Given the description of an element on the screen output the (x, y) to click on. 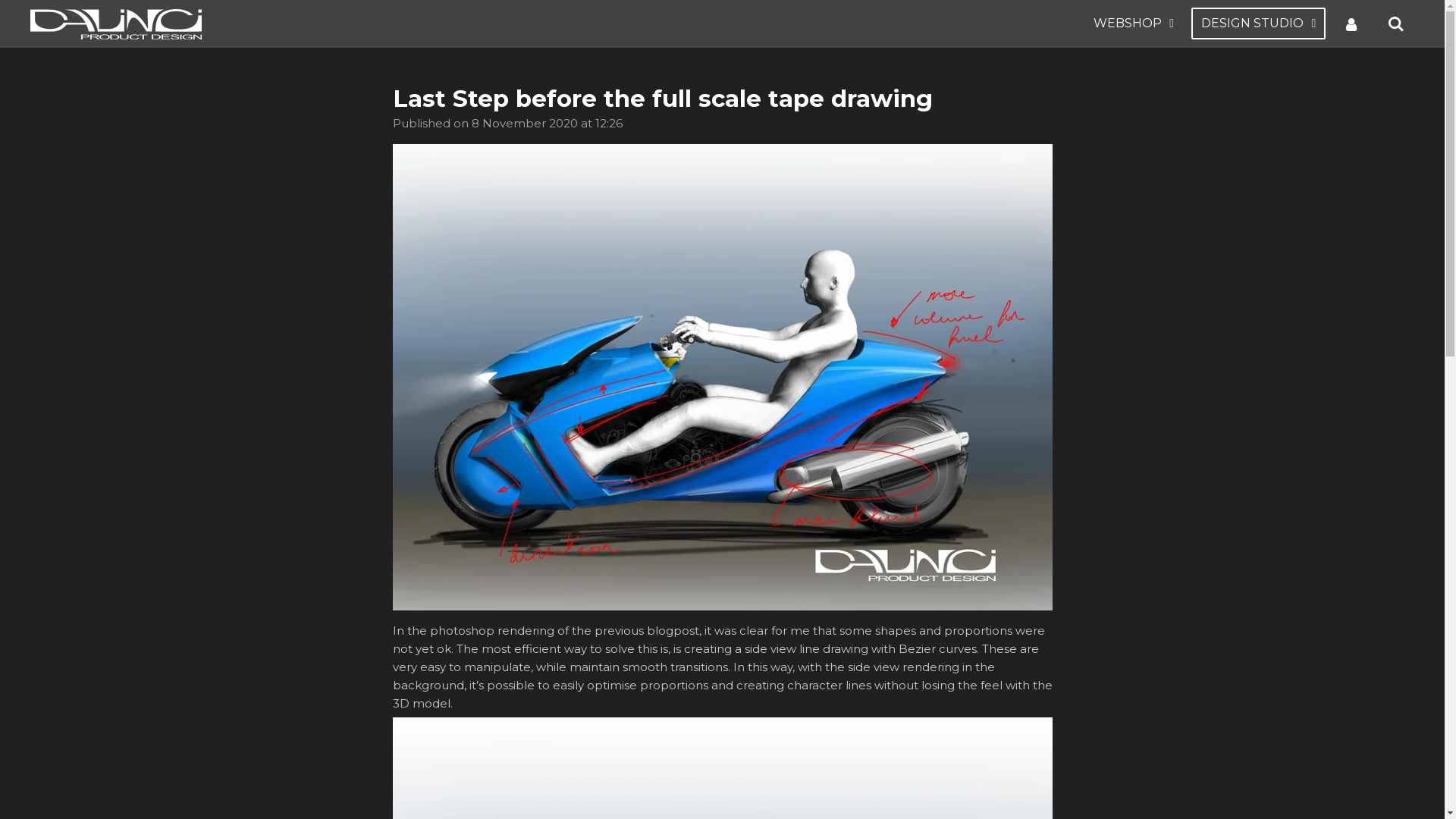
DESIGN STUDIO Element type: text (1258, 23)
Dalinci Product Design Element type: hover (115, 24)
WEBSHOP Element type: text (1133, 23)
Search Element type: hover (1395, 23)
Account Element type: hover (1351, 23)
